Given the description of an element on the screen output the (x, y) to click on. 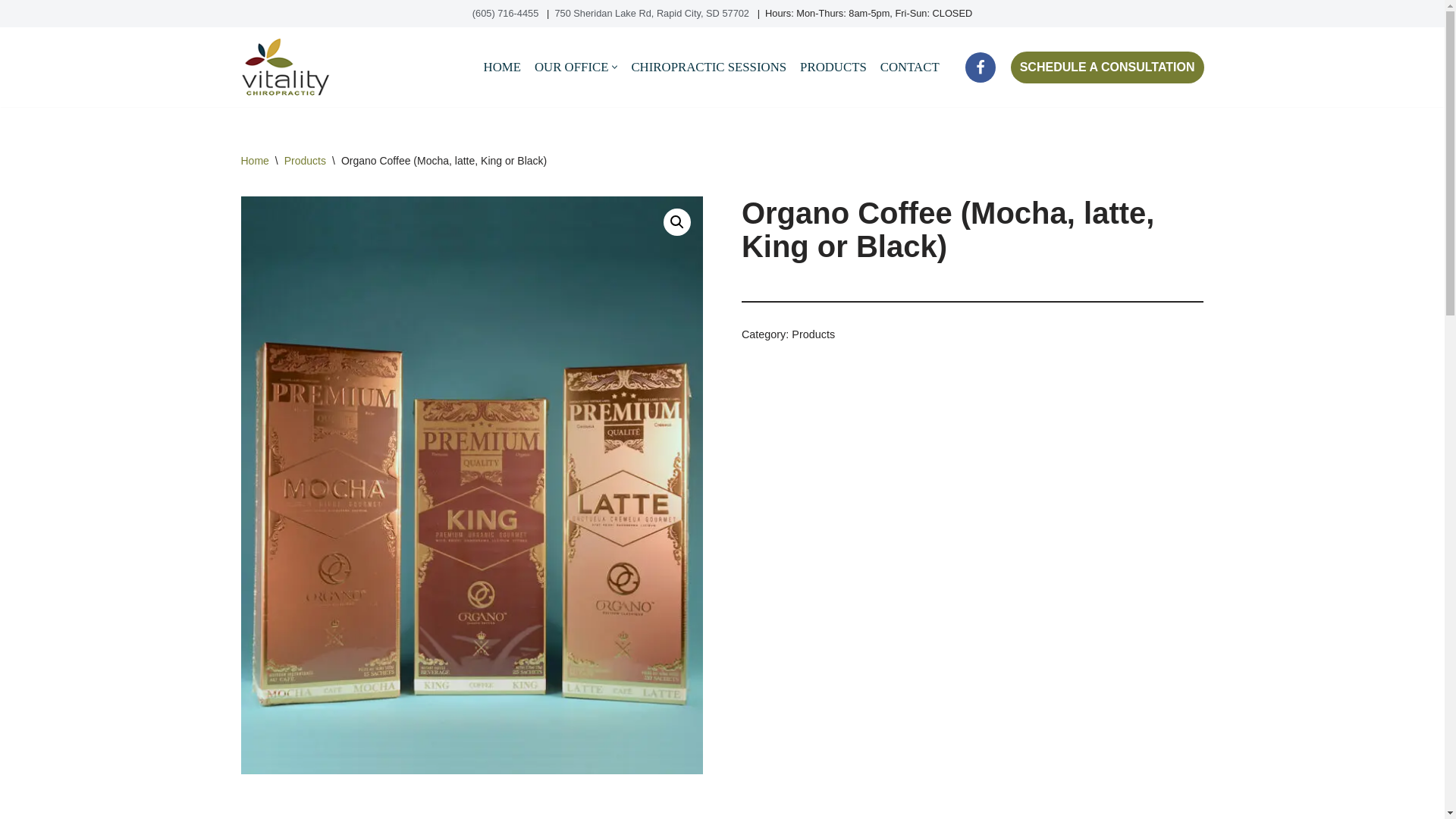
OUR OFFICE (571, 66)
Products (813, 334)
PRODUCTS (832, 66)
CONTACT (909, 66)
SCHEDULE A CONSULTATION (1107, 67)
Home (255, 160)
Products (304, 160)
HOME (502, 66)
750 Sheridan Lake Rd, Rapid City, SD 57702 (651, 12)
Facebook (980, 67)
Skip to content (11, 31)
CHIROPRACTIC SESSIONS (708, 66)
